Given the description of an element on the screen output the (x, y) to click on. 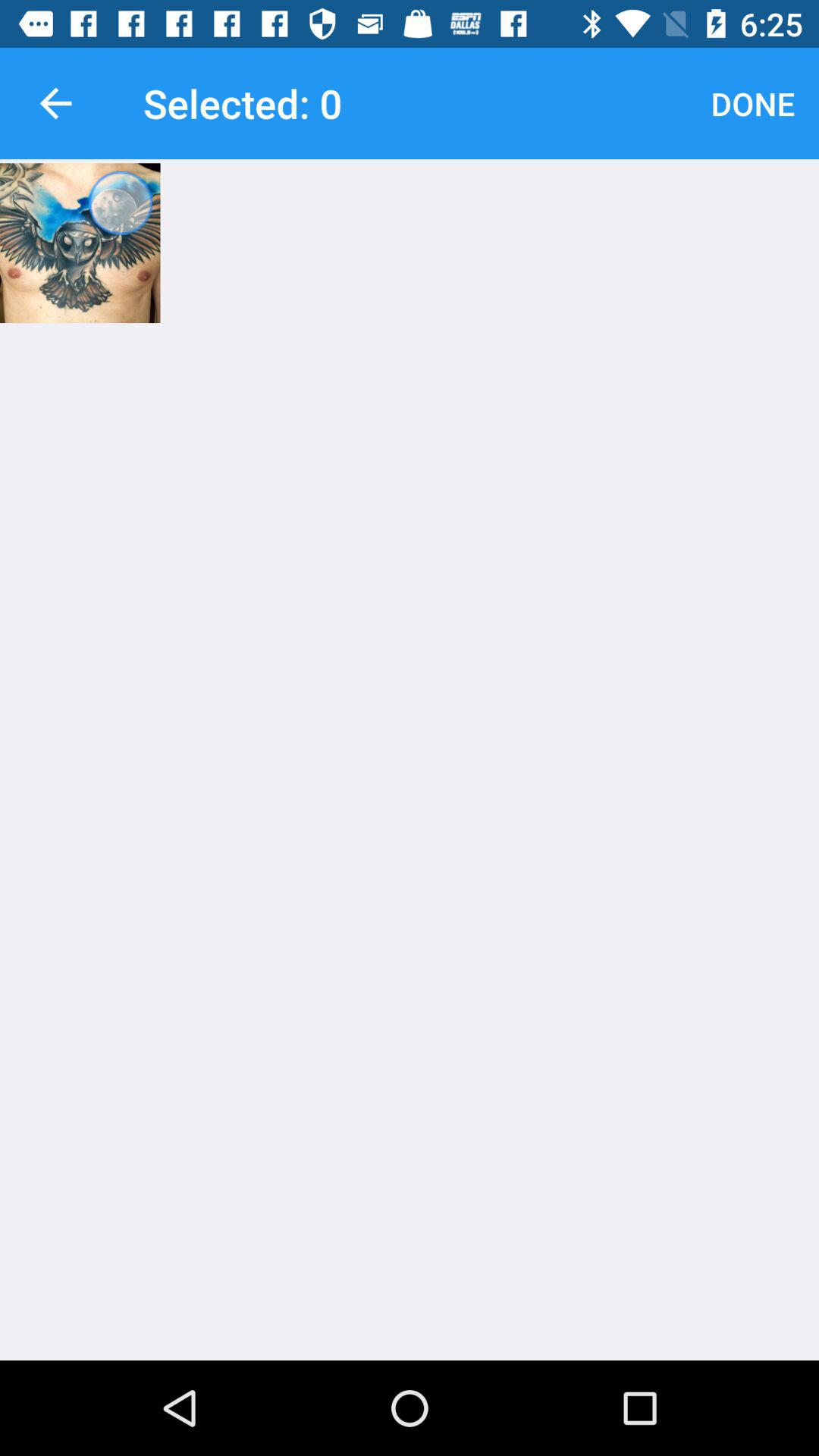
press the icon to the left of selected: 0 (55, 103)
